Given the description of an element on the screen output the (x, y) to click on. 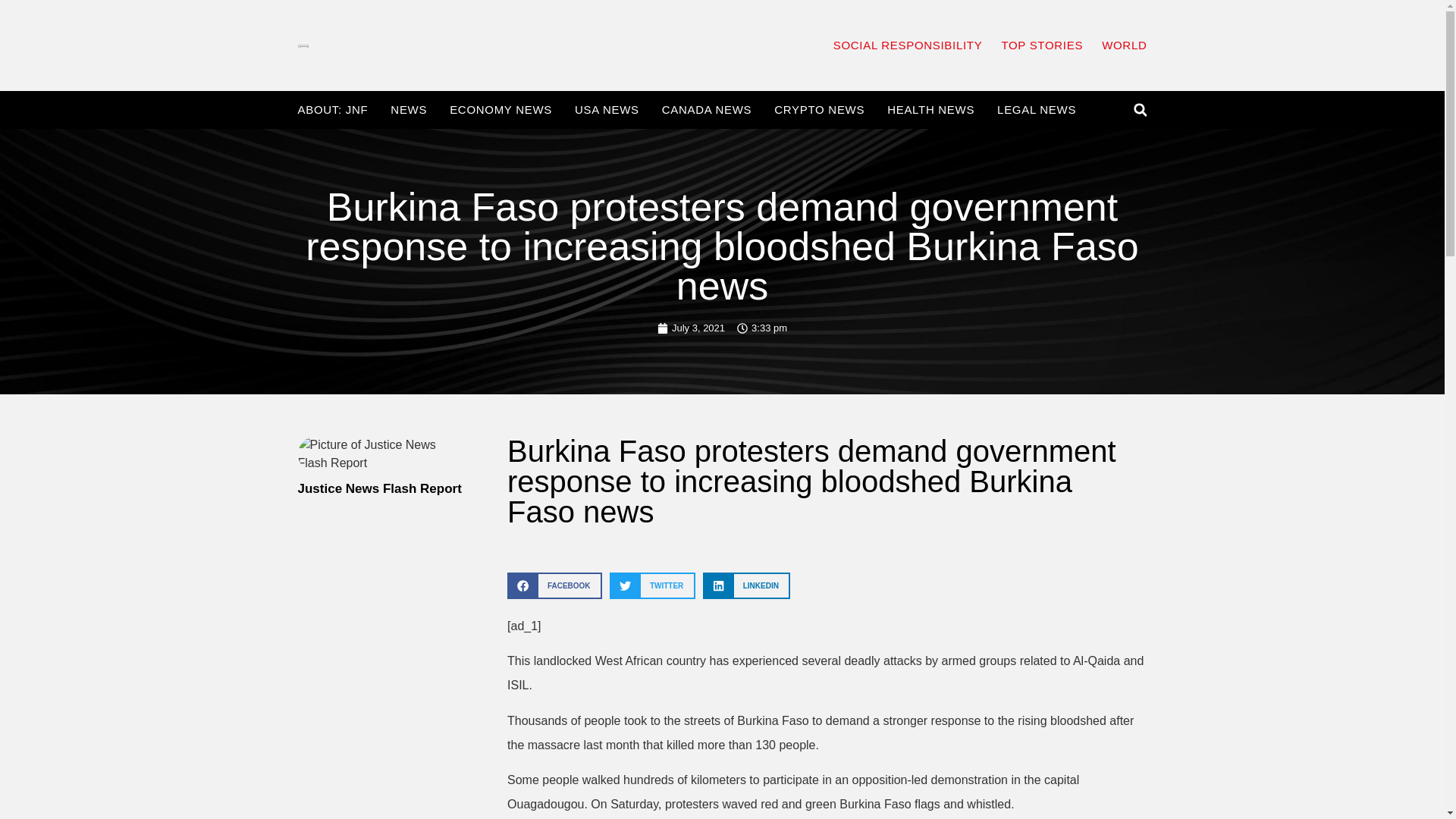
ABOUT: JNF (332, 109)
TOP STORIES (1042, 45)
SOCIAL RESPONSIBILITY (907, 45)
WORLD (1124, 45)
July 3, 2021 (691, 328)
LEGAL NEWS (1036, 109)
ECONOMY NEWS (500, 109)
HEALTH NEWS (930, 109)
NEWS (407, 109)
CRYPTO NEWS (819, 109)
CANADA NEWS (706, 109)
USA NEWS (606, 109)
